Given the description of an element on the screen output the (x, y) to click on. 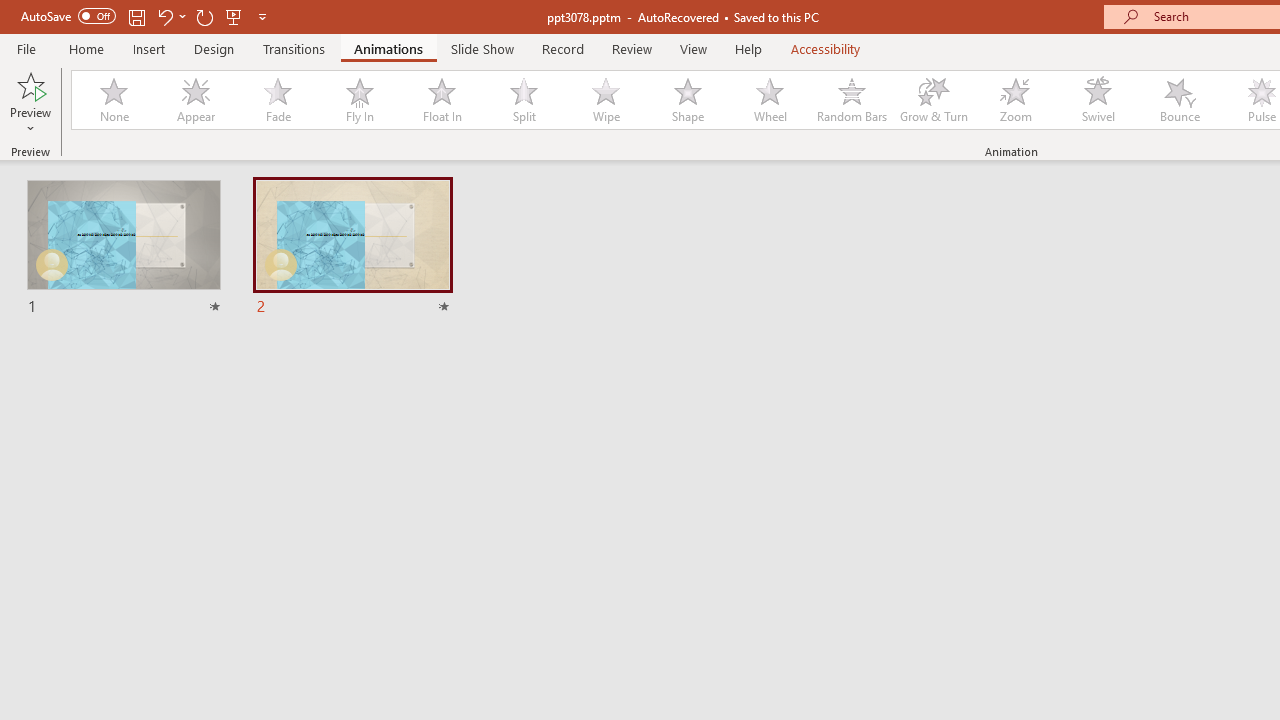
Run and Debug (Ctrl+Shift+D) (135, 622)
Adjust indents and spacing - Microsoft Support (42, 555)
